Given the description of an element on the screen output the (x, y) to click on. 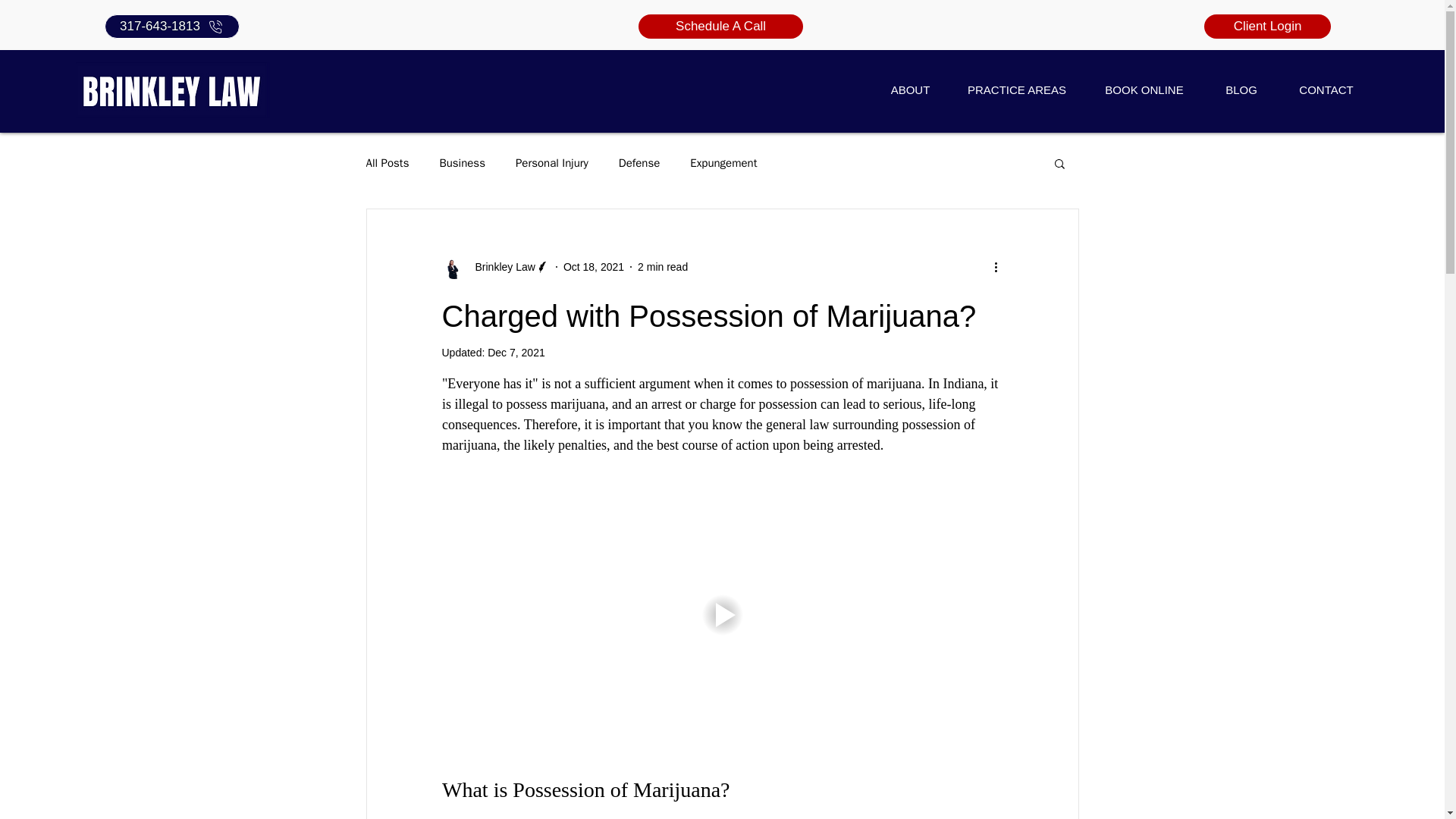
Defense (639, 163)
Client Login (1267, 26)
ABOUT (910, 89)
2 min read (662, 266)
Expungement (723, 163)
Dec 7, 2021 (515, 352)
BOOK ONLINE (1144, 89)
Brinkley Law (494, 266)
Oct 18, 2021 (593, 266)
317-643-1813 (172, 26)
